Given the description of an element on the screen output the (x, y) to click on. 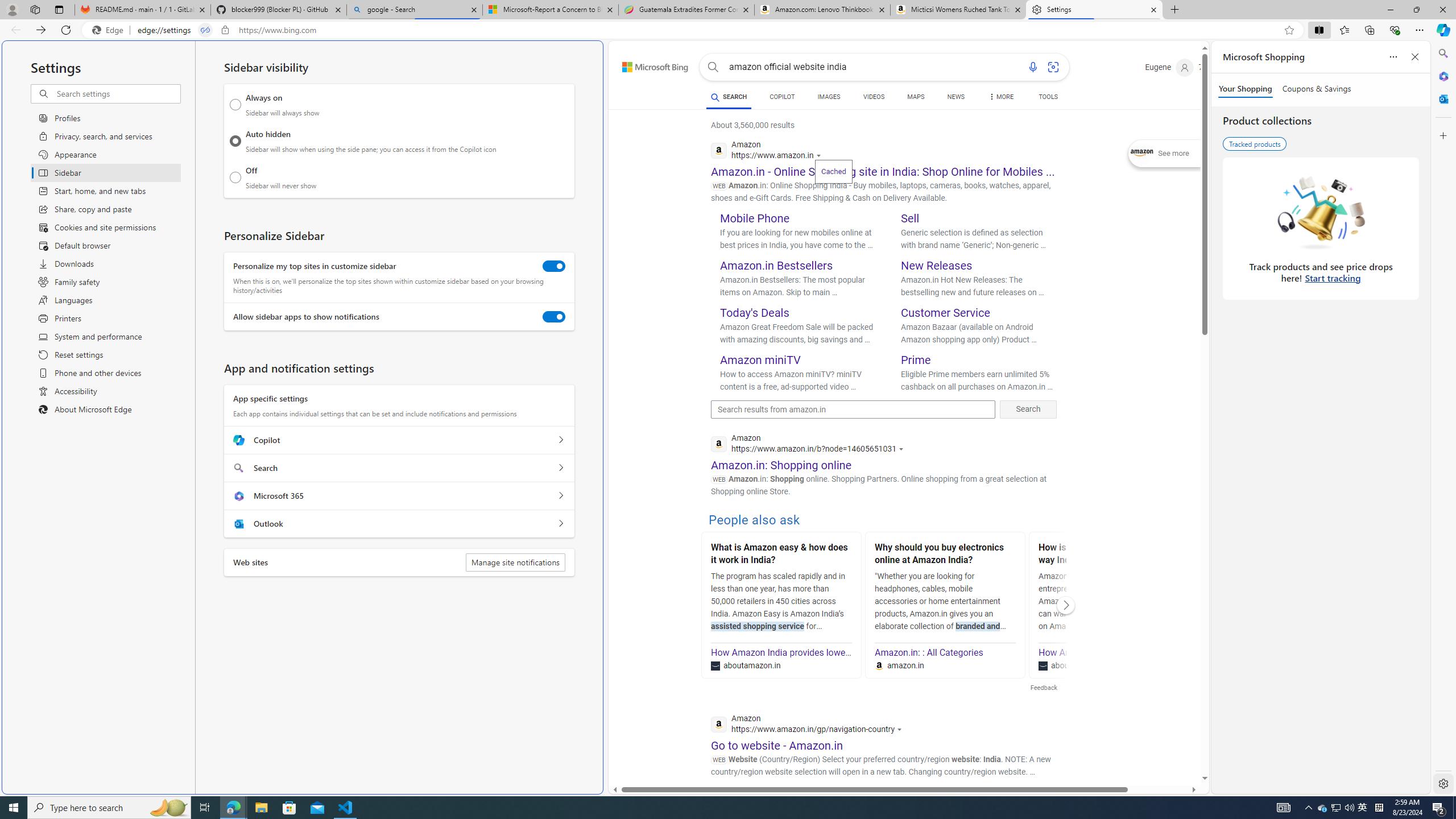
TOOLS (1048, 96)
Copilot (560, 439)
Personalize my top sites in customize sidebar (553, 265)
Always on Sidebar will always show (235, 104)
SEARCH (728, 96)
